Given the description of an element on the screen output the (x, y) to click on. 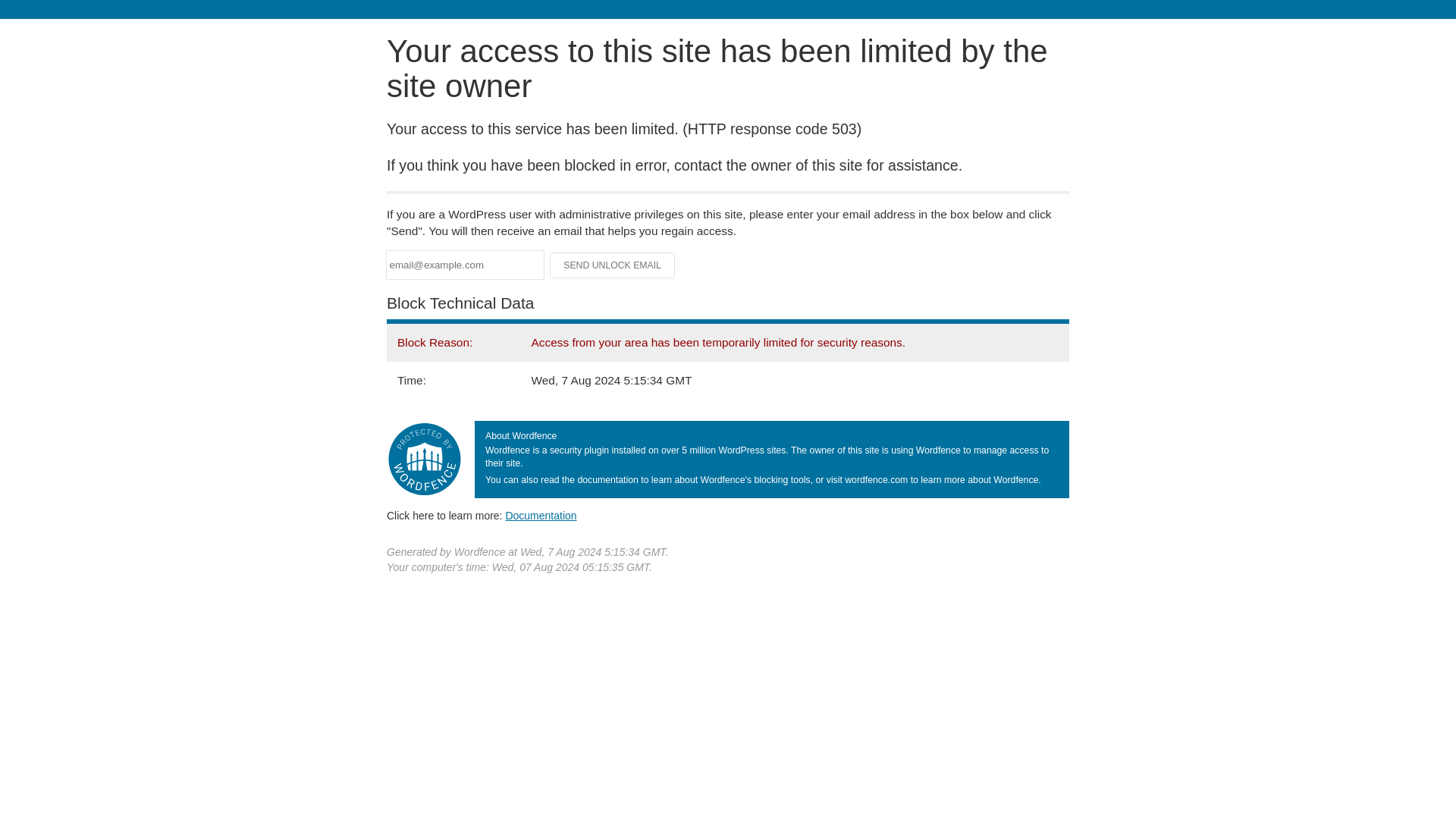
Documentation (540, 515)
Send Unlock Email (612, 265)
Send Unlock Email (612, 265)
